Given the description of an element on the screen output the (x, y) to click on. 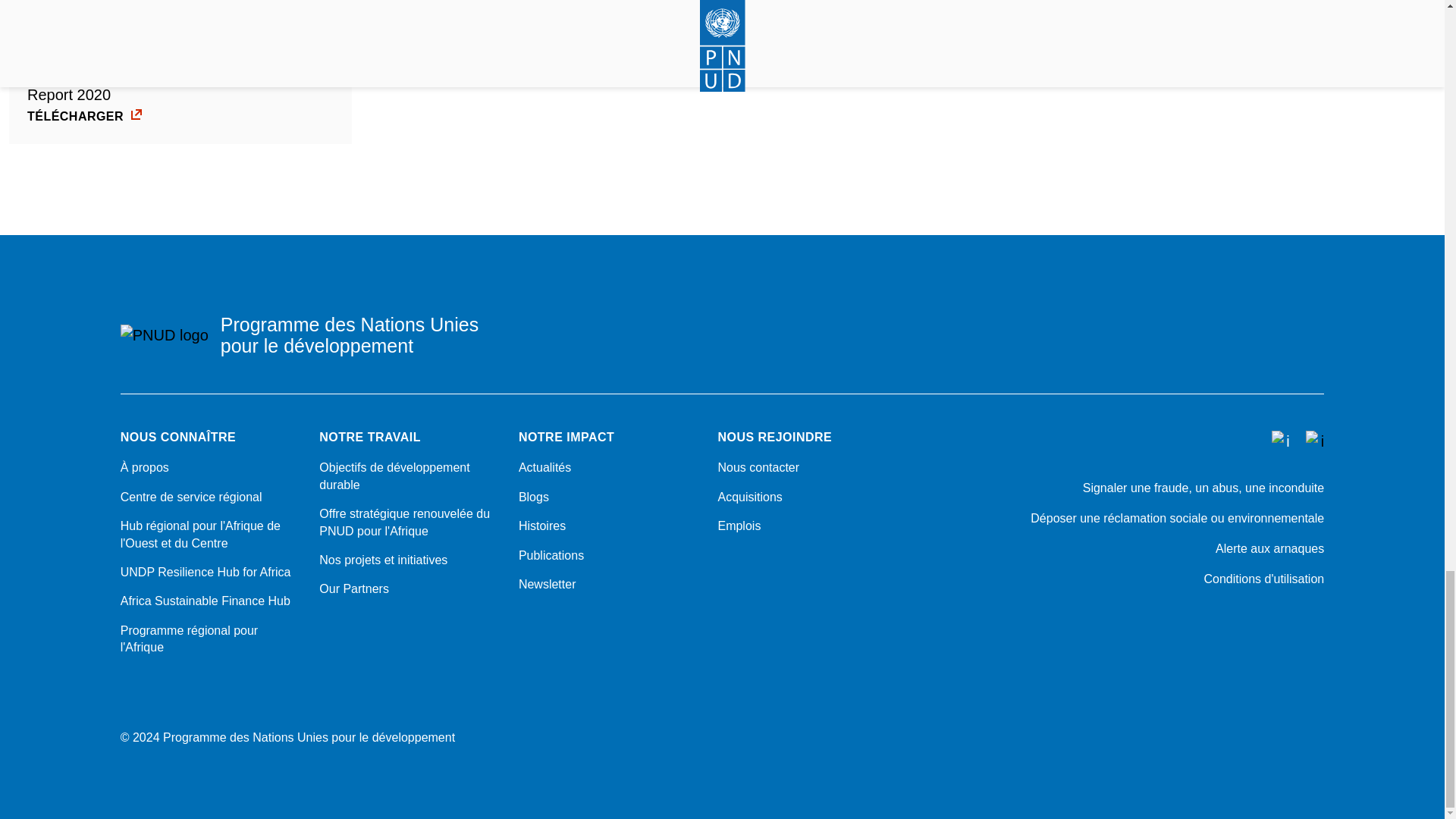
Africa Sustainable Finance Hub (210, 600)
Nos projets et initiatives (409, 560)
Our Partners (409, 588)
Facebook (1198, 620)
UNDP WACA LinkedIn (1315, 620)
Twitter (1158, 620)
UNDP WACA YouTube (1276, 620)
Instagram (1237, 620)
UNDP Resilience Hub for Africa (210, 572)
NOTRE TRAVAIL (409, 437)
